Given the description of an element on the screen output the (x, y) to click on. 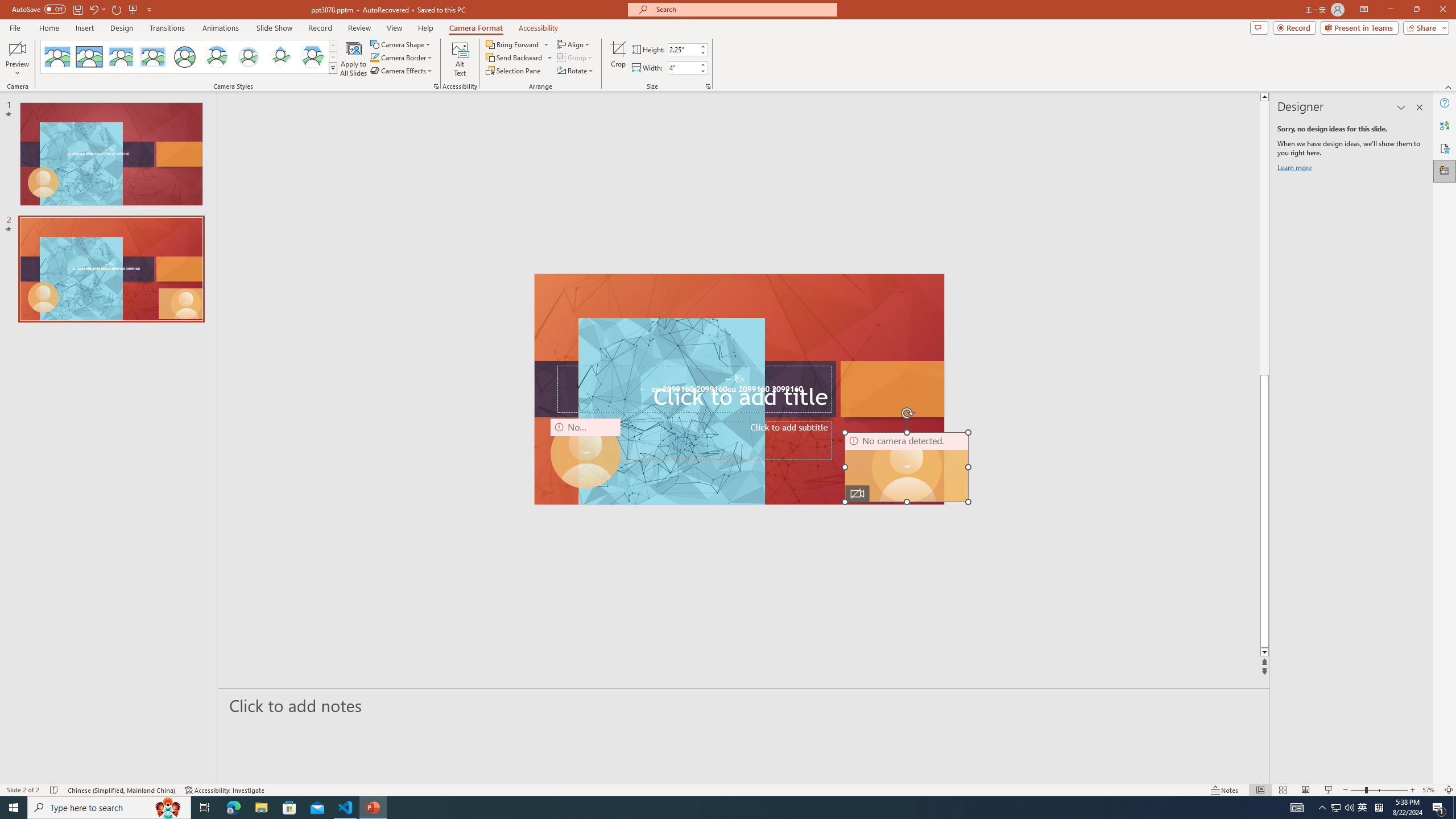
Camera 11, No camera detected. (906, 466)
Apply to All Slides (353, 58)
Learn more (1295, 169)
Bring Forward (517, 44)
Soft Edge Circle (248, 56)
Bring Forward (513, 44)
No Style (57, 56)
Center Shadow Hexagon (312, 56)
Simple Frame Circle (184, 56)
Crop (617, 58)
